Given the description of an element on the screen output the (x, y) to click on. 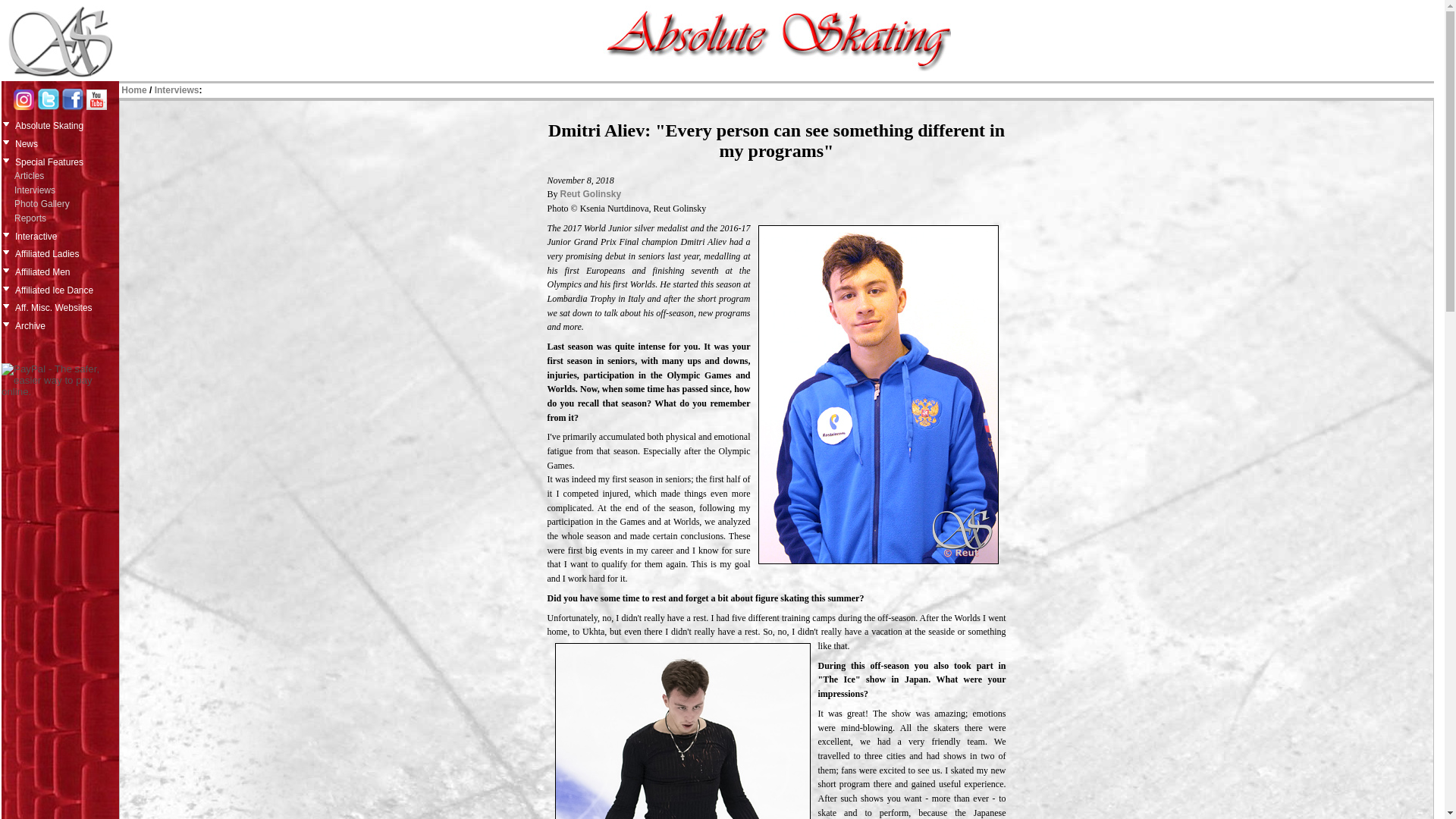
Absolute Skating (65, 124)
Photo Gallery (66, 204)
Special Features (65, 160)
Interviews (66, 190)
Interactive (65, 235)
Support the site (60, 380)
Affiliated Ladies (65, 252)
Affiliated Ice Dance (65, 289)
Articles (66, 175)
Reports (66, 218)
Aff. Misc. Websites (65, 306)
News (65, 142)
Affiliated Men (65, 270)
